Given the description of an element on the screen output the (x, y) to click on. 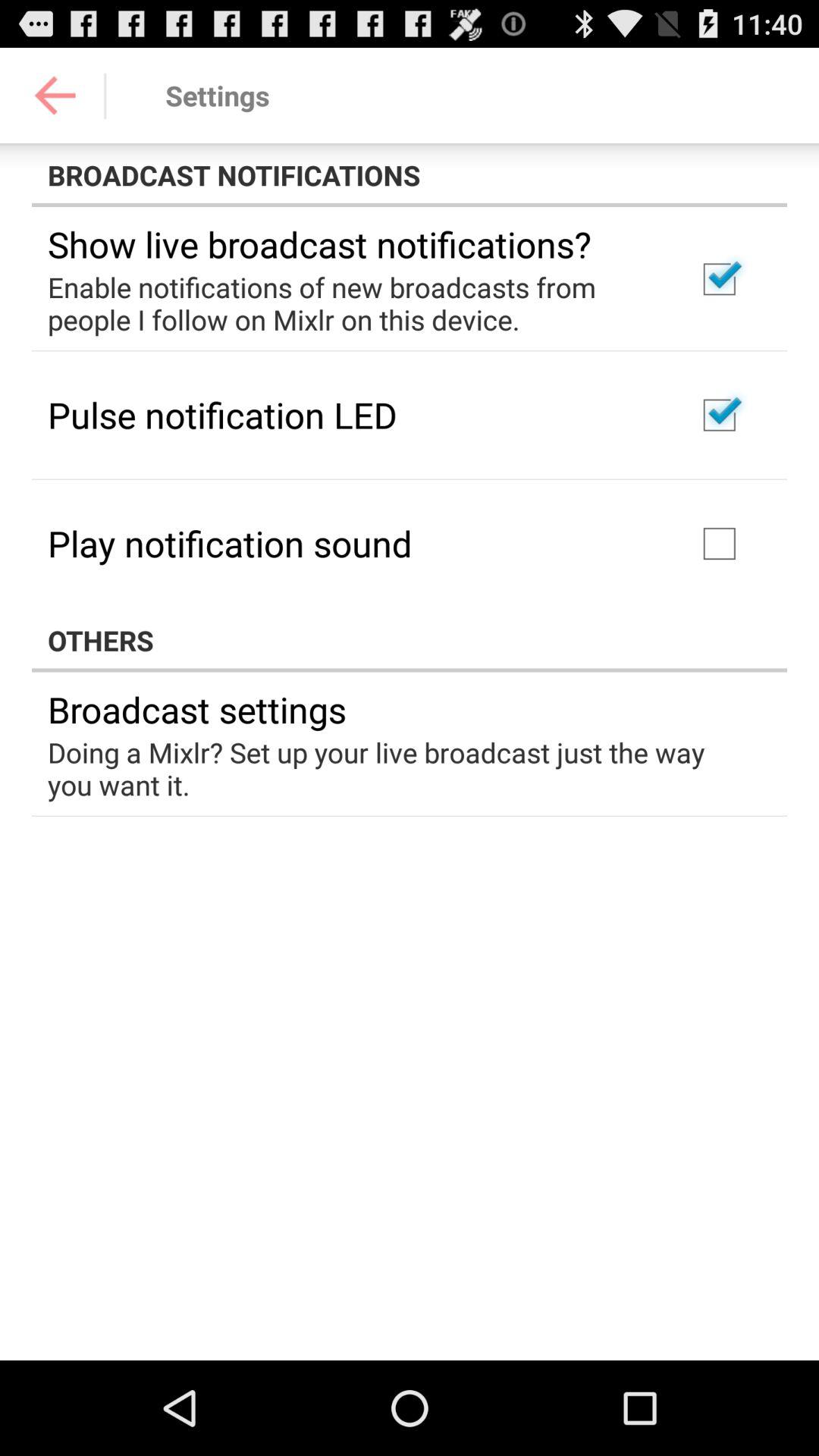
swipe until the others (409, 640)
